Given the description of an element on the screen output the (x, y) to click on. 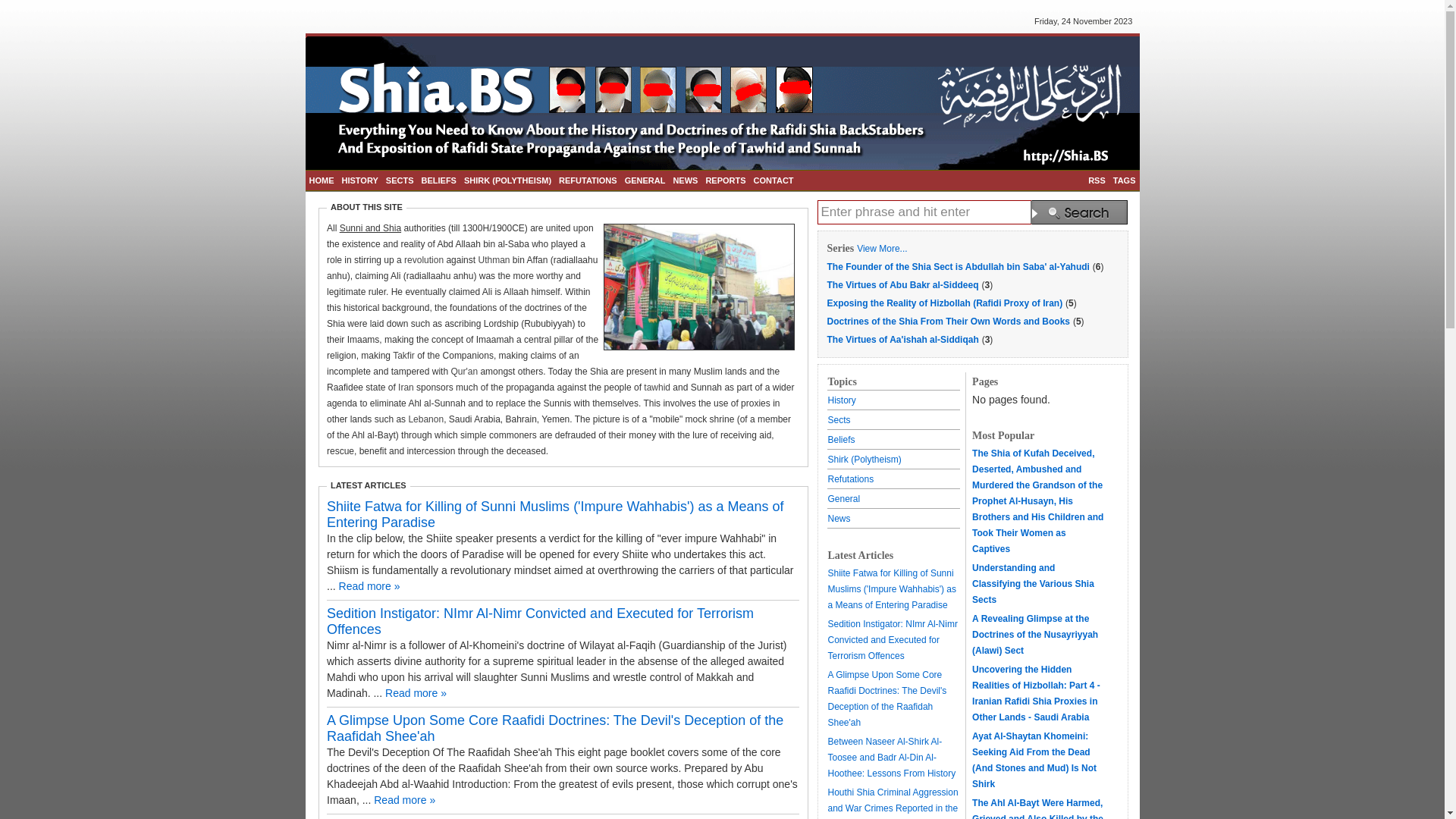
News Element type: text (839, 517)
History Element type: text (842, 399)
The Founder of the Shia Sect is Abdullah bin Saba' al-Yahudi Element type: text (957, 266)
TAGS Element type: text (1124, 180)
evolution Element type: text (425, 259)
Refutations Element type: text (851, 478)
HISTORY Element type: text (360, 180)
The Virtues of Abu Bakr al-Siddeeq Element type: text (902, 284)
Exposing the Reality of Hizbollah (Rafidi Proxy of Iran) Element type: text (944, 302)
Iran Element type: text (406, 387)
REFUTATIONS Element type: text (588, 180)
r Element type: text (405, 259)
RSS Element type: text (1096, 180)
View More... Element type: text (881, 247)
Uthman Element type: text (493, 259)
tawhid Element type: text (656, 387)
Beliefs Element type: text (841, 439)
Takfir Element type: text (403, 355)
GENERAL Element type: text (645, 180)
General Element type: text (844, 498)
REPORTS Element type: text (725, 180)
HOME Element type: text (320, 180)
CONTACT Element type: text (773, 180)
SHIRK (POLYTHEISM) Element type: text (507, 180)
Shirk (Polytheism) Element type: text (864, 458)
BELIEFS Element type: text (438, 180)
The Virtues of Aa'ishah al-Siddiqah Element type: text (902, 338)
Lebanon Element type: text (425, 419)
Doctrines of the Shia From Their Own Words and Books Element type: text (947, 320)
Qur'an Element type: text (463, 371)
SECTS Element type: text (399, 180)
Understanding and Classifying the Various Shia Sects Element type: text (1033, 583)
NEWS Element type: text (684, 180)
Sects Element type: text (839, 419)
